Given the description of an element on the screen output the (x, y) to click on. 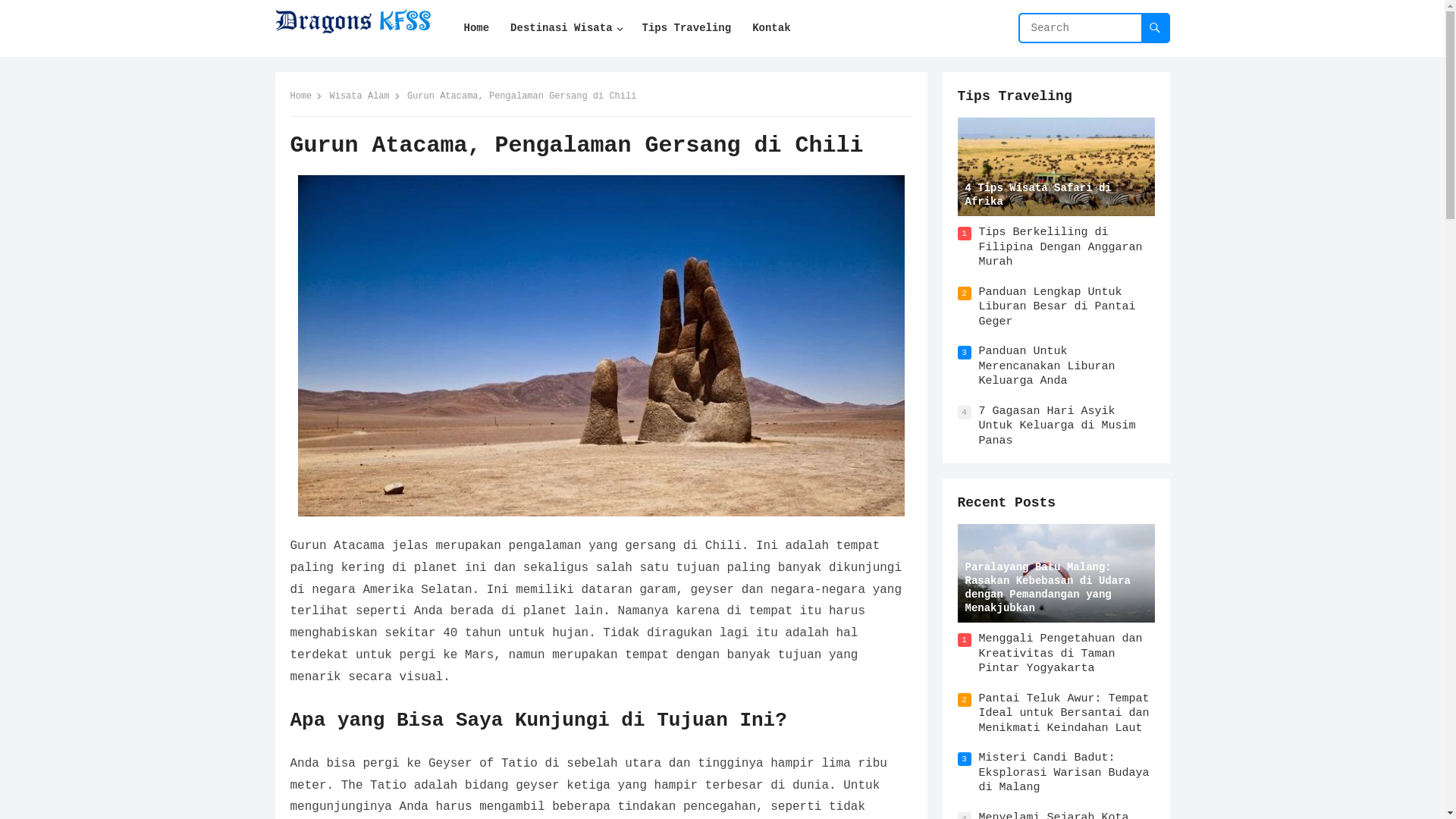
7 Gagasan Hari Asyik Untuk Keluarga di Musim Panas Element type: text (1056, 425)
Panduan Lengkap Untuk Liburan Besar di Pantai Geger Element type: text (1056, 306)
4 Tips Wisata Safari di Afrika Element type: text (1055, 166)
Misteri Candi Badut: Eksplorasi Warisan Budaya di Malang Element type: text (1063, 772)
Panduan Untuk Merencanakan Liburan Keluarga Anda Element type: text (1046, 366)
Home Element type: text (305, 96)
Tips Traveling Element type: text (686, 28)
Home Element type: text (476, 28)
Wisata Alam Element type: text (364, 96)
Destinasi Wisata Element type: text (565, 28)
Tips Berkeliling di Filipina Dengan Anggaran Murah Element type: text (1060, 246)
Kontak Element type: text (771, 28)
Tips Traveling Element type: text (1014, 95)
